Given the description of an element on the screen output the (x, y) to click on. 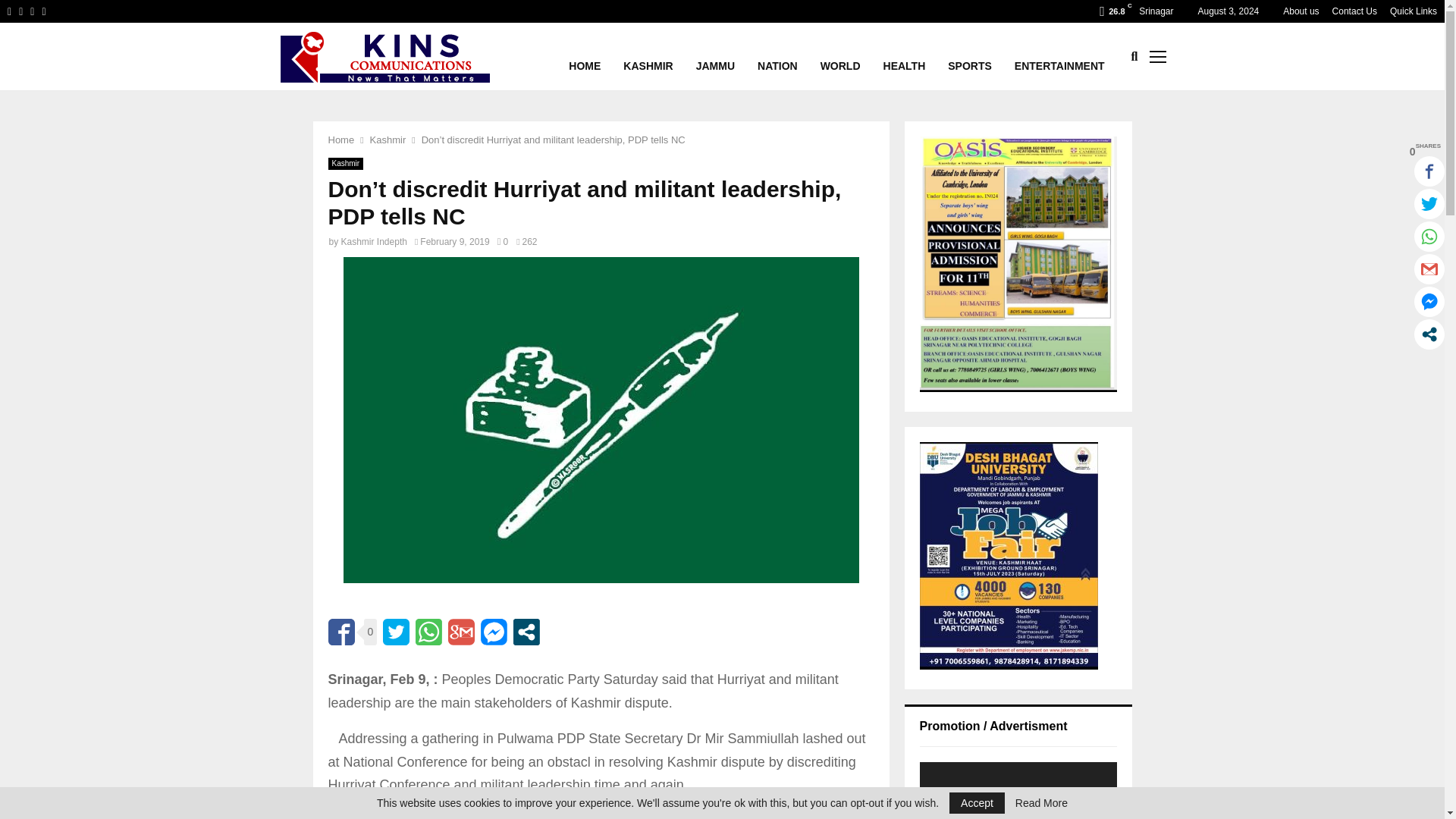
Share on Facebook (340, 632)
Quick Links (1413, 11)
Send by Gmail (461, 632)
Home (340, 139)
About us (1300, 11)
Contact Us (1354, 11)
Kashmir (344, 163)
Kashmir Indepth (373, 241)
Tweet (395, 632)
Send on Facebook Messenger (493, 632)
0 (502, 241)
Share on WhatsApp (428, 632)
Kashmir (387, 139)
ENTERTAINMENT (1059, 56)
Open modal social networks (526, 632)
